Given the description of an element on the screen output the (x, y) to click on. 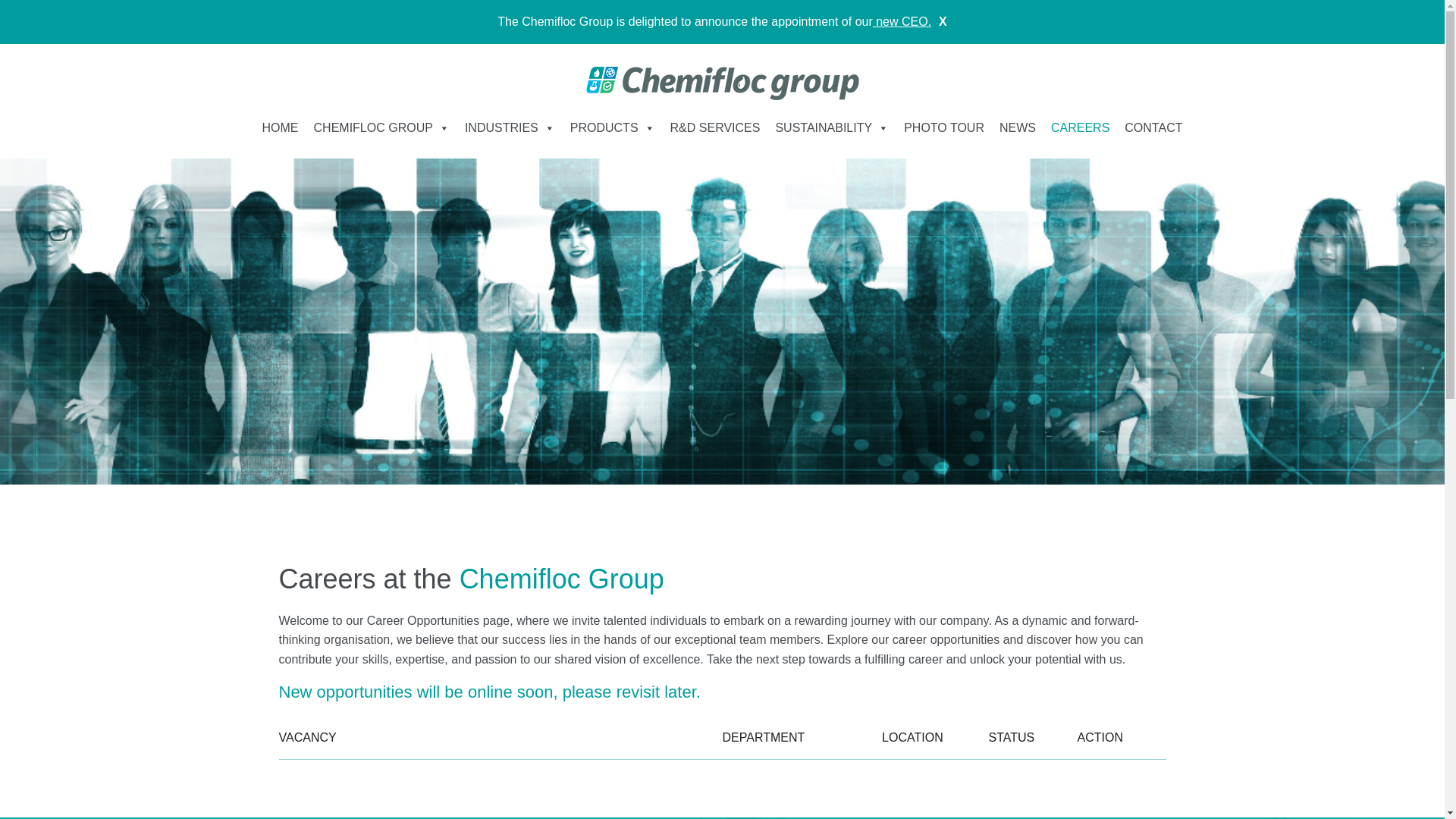
CONTACT (1152, 128)
NEWS (1017, 128)
CAREERS (1079, 128)
new CEO. (901, 21)
SUSTAINABILITY (831, 128)
PHOTO TOUR (943, 128)
HOME (279, 128)
PRODUCTS (612, 128)
CHEMIFLOC GROUP (381, 128)
INDUSTRIES (509, 128)
